Given the description of an element on the screen output the (x, y) to click on. 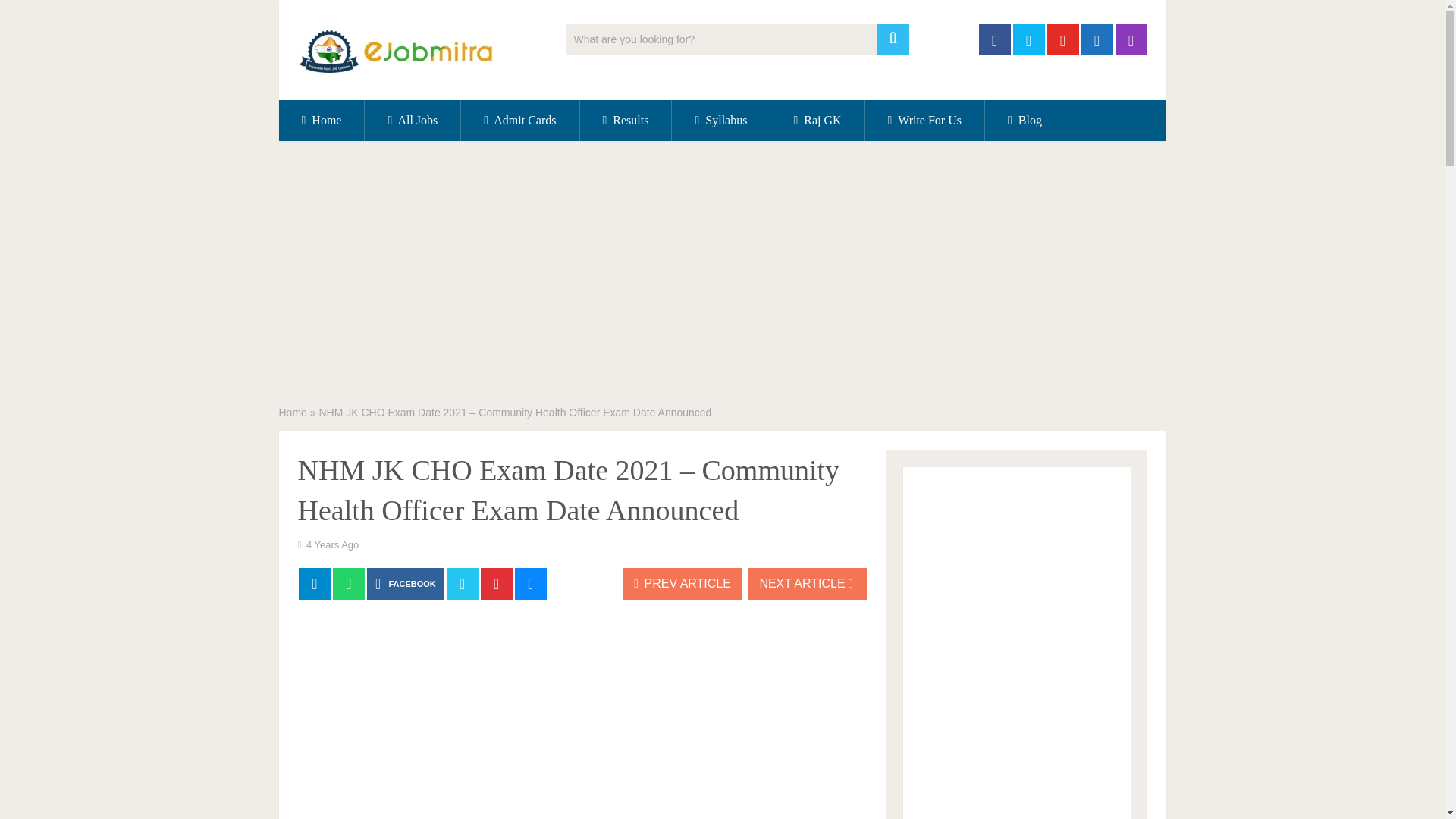
Admit Cards (519, 119)
Blog (1024, 119)
Results (625, 119)
Syllabus (720, 119)
Home (293, 412)
NEXT ARTICLE (807, 583)
All Jobs (412, 119)
Advertisement (581, 720)
FACEBOOK (405, 583)
